Given the description of an element on the screen output the (x, y) to click on. 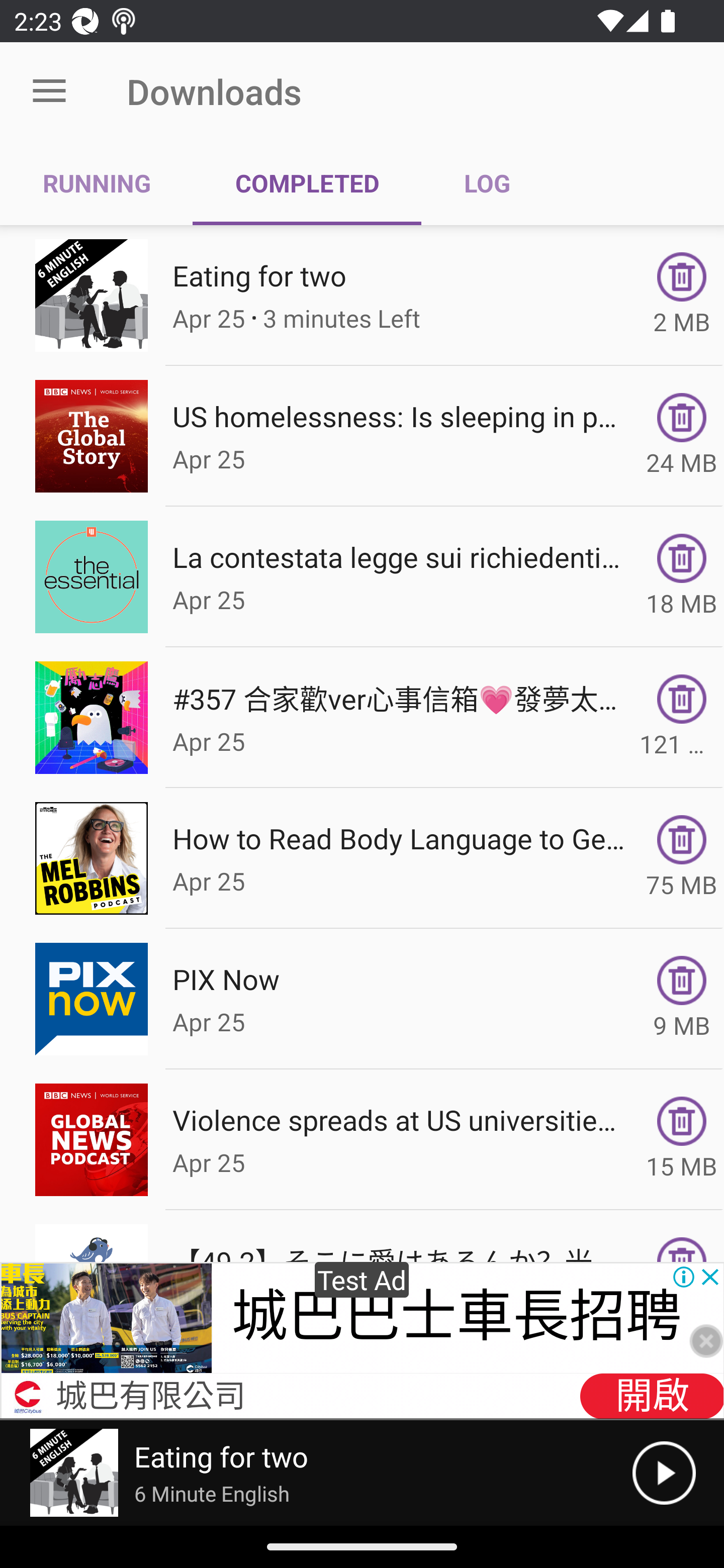
Open menu (49, 91)
RUNNING (96, 183)
COMPLETED (306, 183)
LOG (486, 183)
Remove Episode (681, 276)
Remove Episode (681, 417)
Remove Episode (681, 558)
Remove Episode (681, 699)
Remove Episode (681, 839)
Picture PIX Now Apr 25 Remove Episode 9 MB (362, 998)
Remove Episode (681, 980)
Remove Episode (681, 1121)
bc-recruitment (106, 1318)
城巴巴士車長招聘 (456, 1316)
開啟 (651, 1396)
bc-recruitment (28, 1396)
城巴有限公司 (150, 1397)
Picture Eating for two 6 Minute English (316, 1472)
Play (663, 1472)
